Given the description of an element on the screen output the (x, y) to click on. 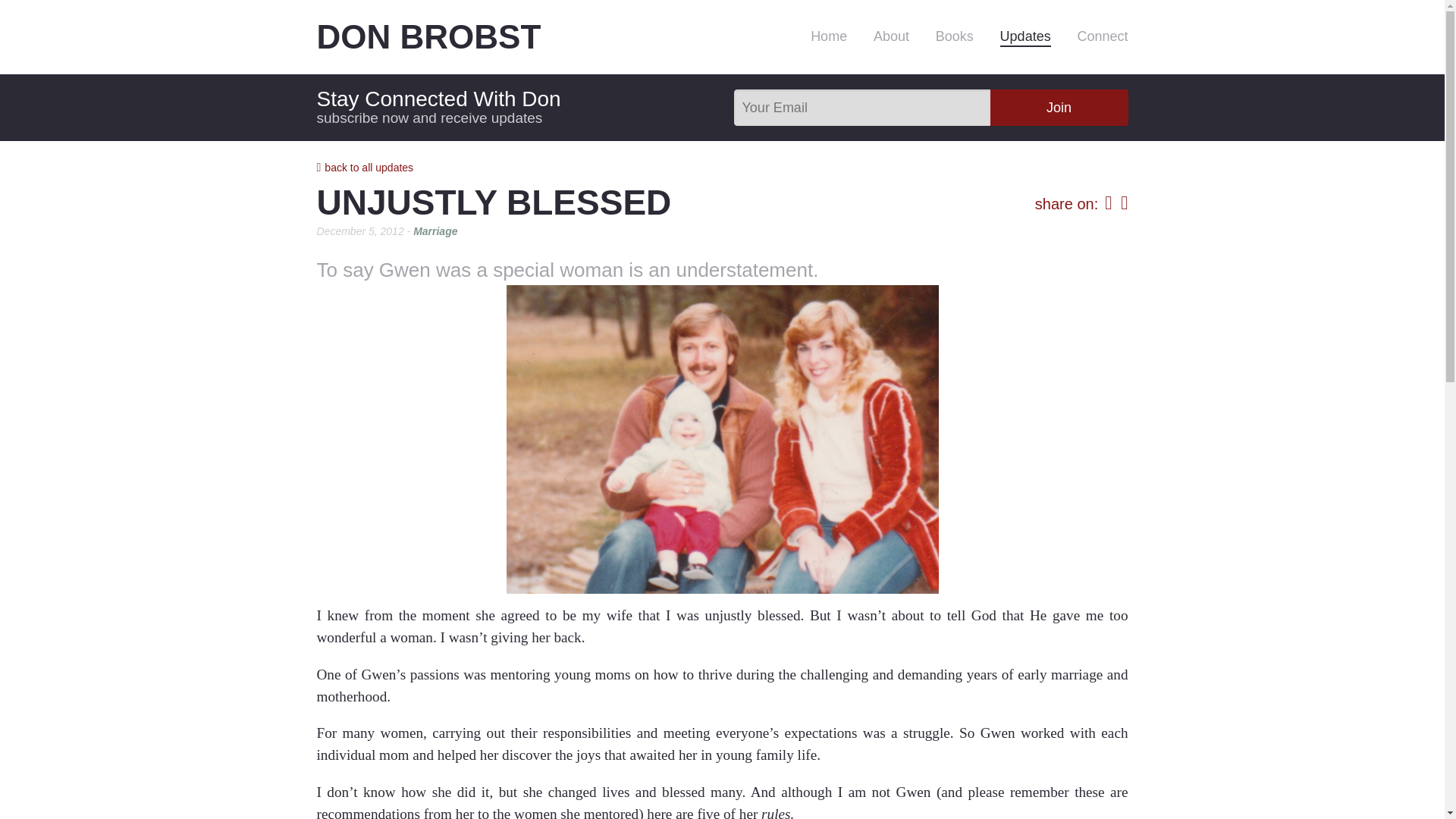
Updates (1025, 35)
back to all updates (365, 167)
Marriage (435, 231)
Don and Gwen holding Wendy-age 9 months at Thanksgiving (722, 439)
join (1059, 107)
Home (828, 35)
About (890, 35)
Books (955, 35)
DON BROBST (479, 36)
join (1059, 107)
